Given the description of an element on the screen output the (x, y) to click on. 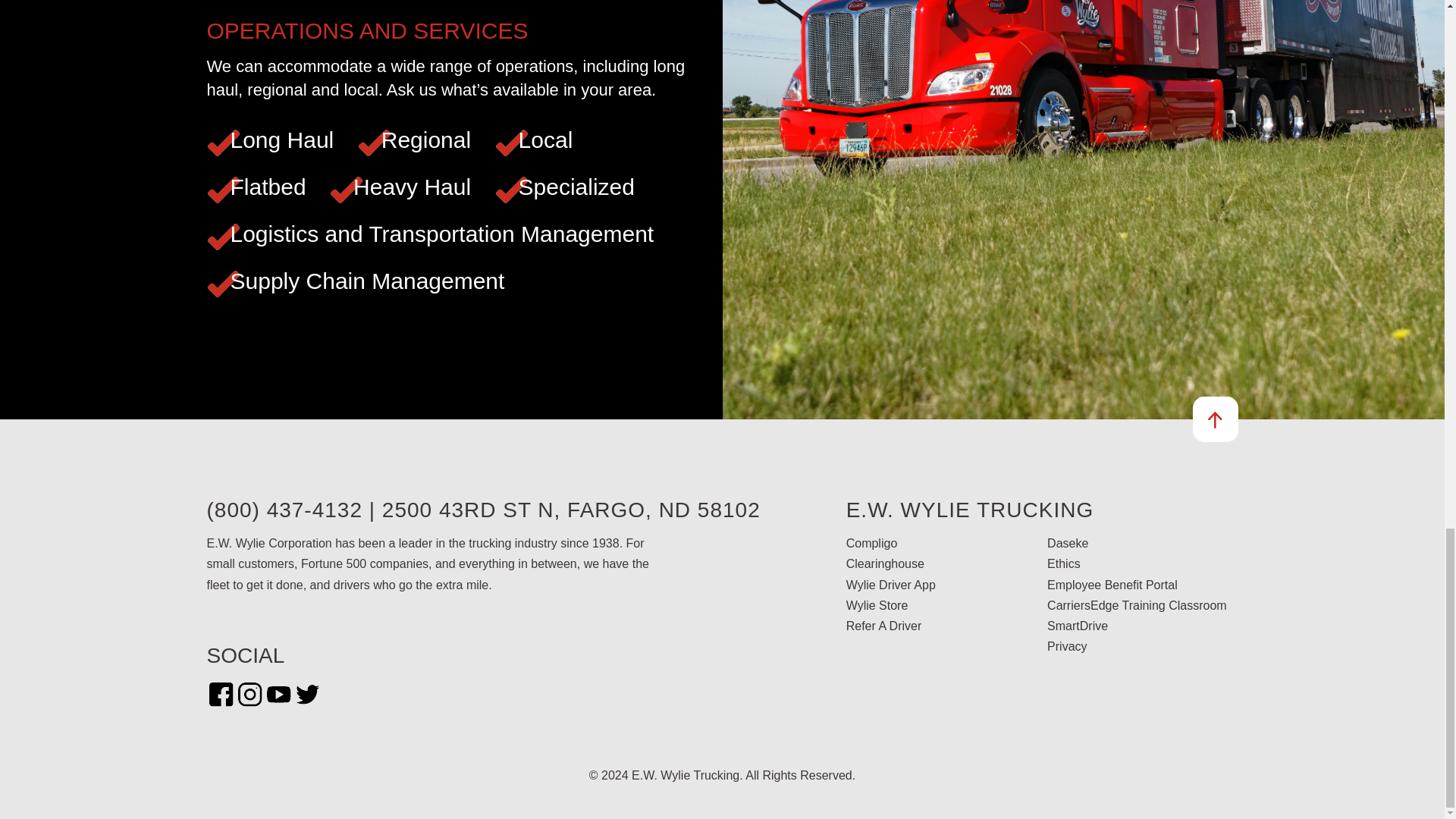
Wylie Store (876, 604)
Clearinghouse (884, 563)
Wylie Driver App (890, 584)
SmartDrive (1077, 625)
Daseke (1066, 543)
CarriersEdge Training Classroom (1136, 604)
Ethics (1063, 563)
Go to top (1214, 419)
Refer A Driver (883, 625)
Employee Benefit Portal (1111, 584)
Privacy (1066, 645)
Compligo (871, 543)
